Given the description of an element on the screen output the (x, y) to click on. 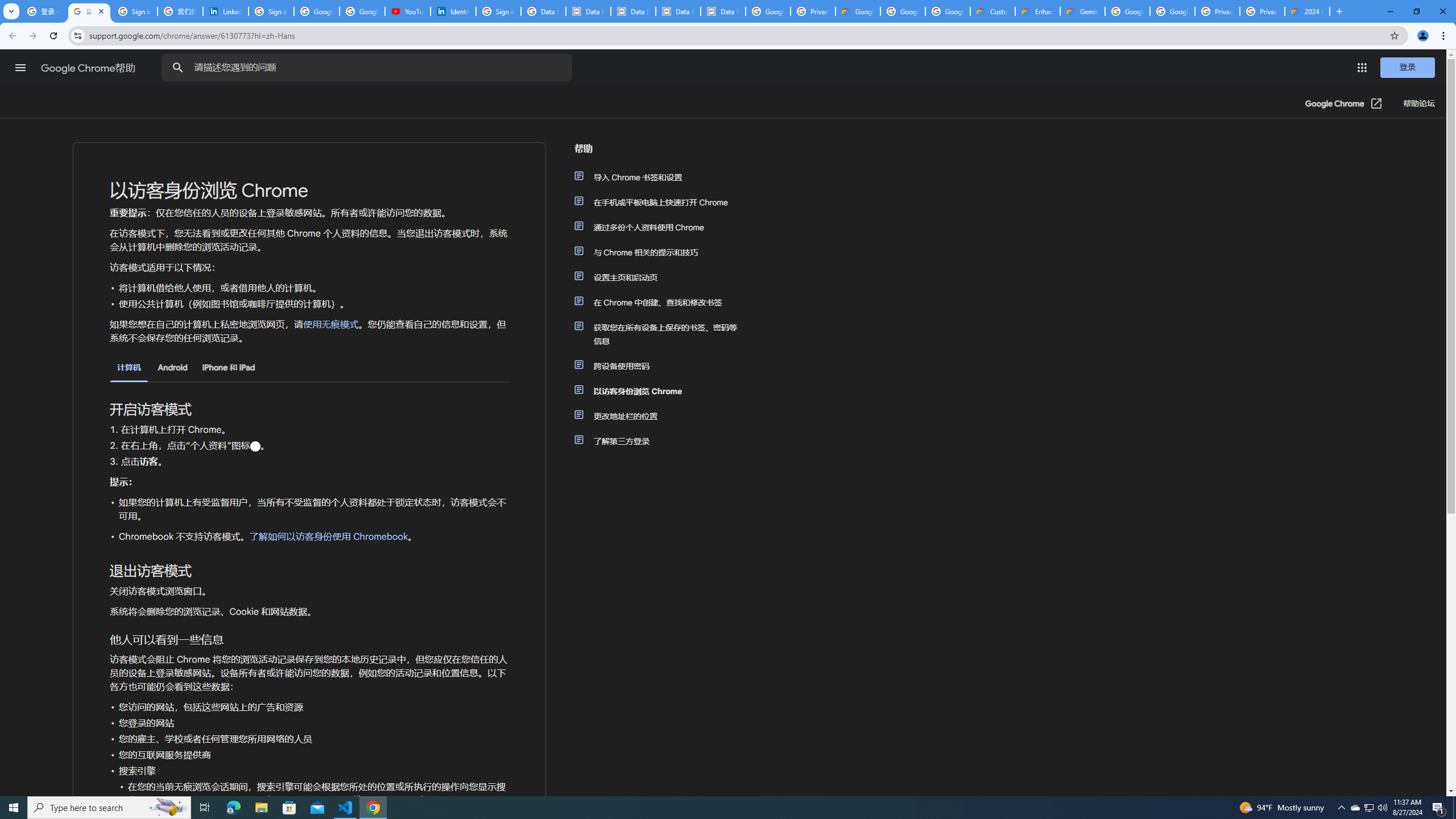
Google Workspace - Specific Terms (947, 11)
